Given the description of an element on the screen output the (x, y) to click on. 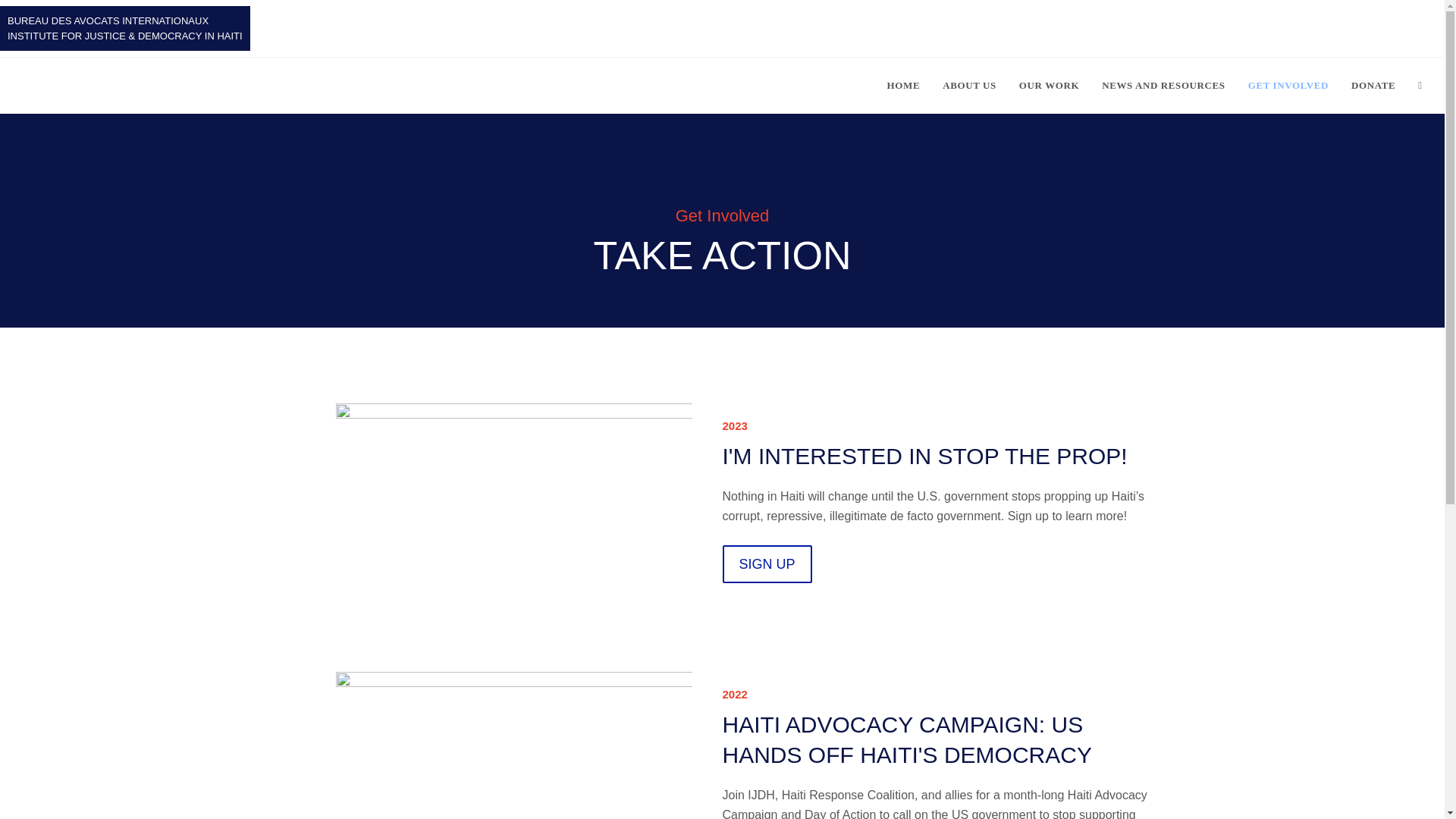
GET INVOLVED (1287, 85)
ABOUT US (969, 85)
HOME (903, 85)
NEWS AND RESOURCES (1163, 85)
DONATE (1372, 85)
OUR WORK (1048, 85)
